Given the description of an element on the screen output the (x, y) to click on. 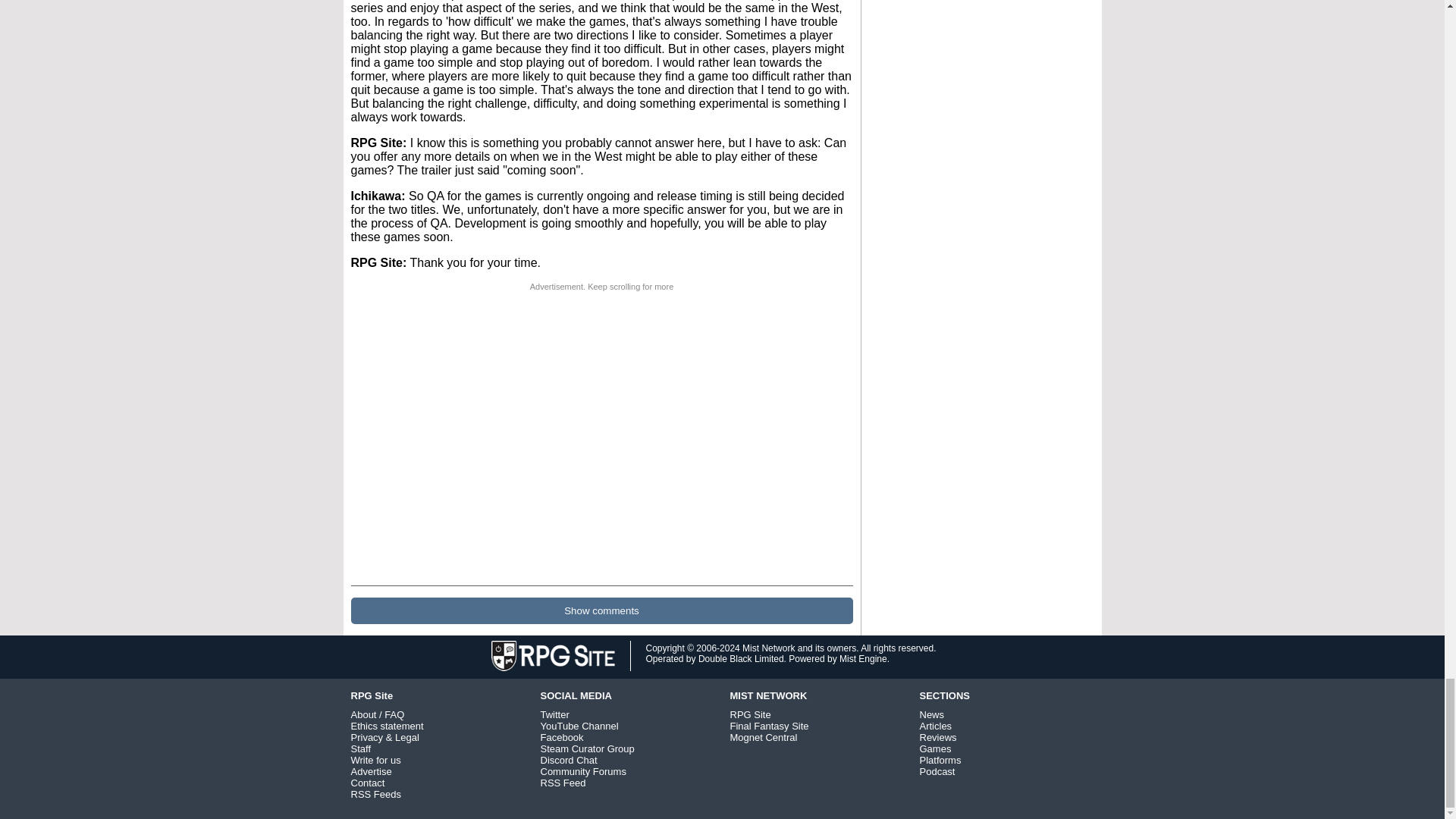
Show comments (600, 610)
